Given the description of an element on the screen output the (x, y) to click on. 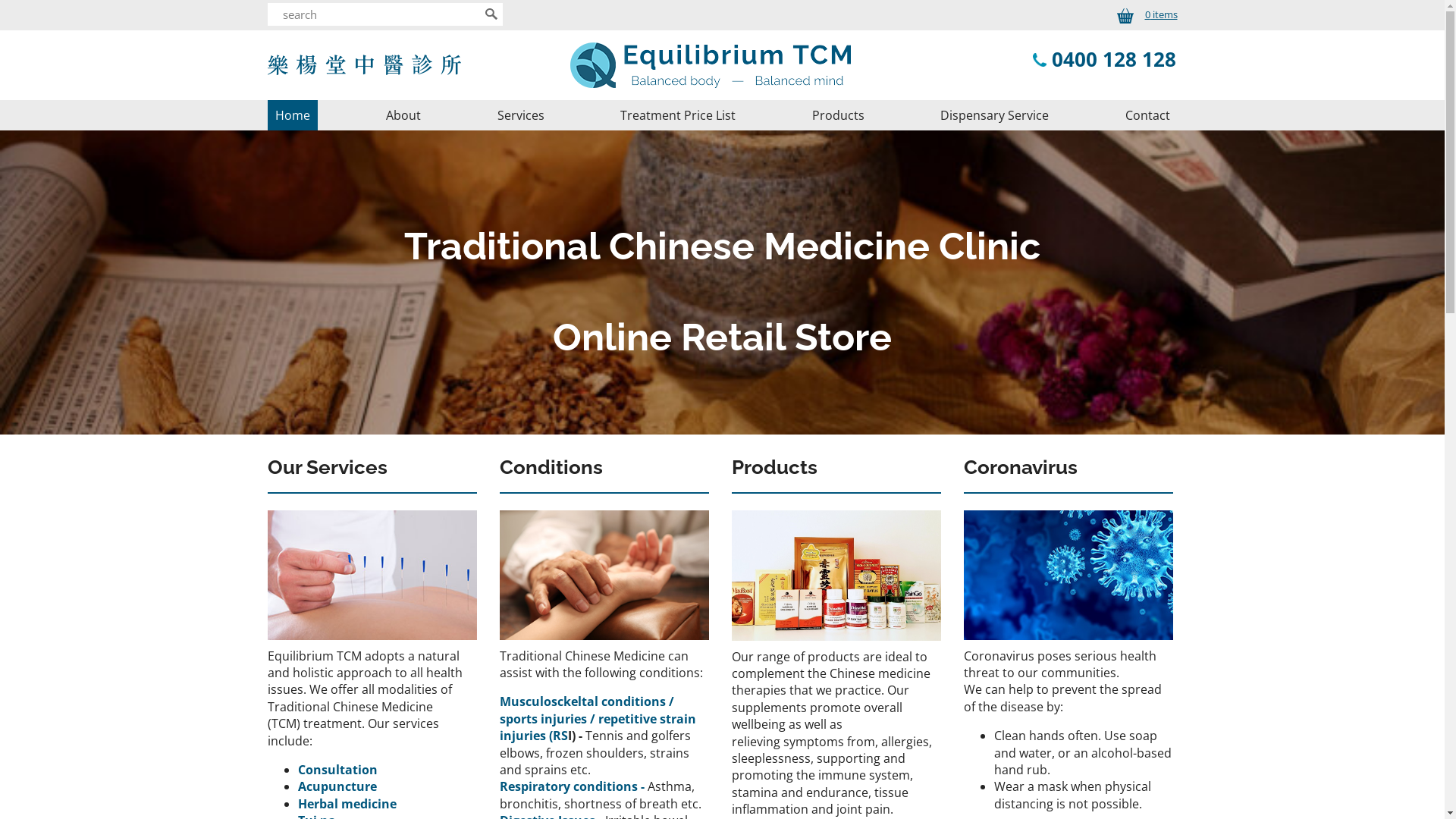
search Element type: text (372, 14)
Home Element type: text (291, 115)
Treatment Price List Element type: text (677, 115)
Services Element type: text (520, 115)
Products Element type: text (837, 115)
Contact Element type: text (1147, 115)
About Element type: text (403, 115)
Dispensary Service Element type: text (994, 115)
0400 128 128 Element type: text (1113, 58)
